Given the description of an element on the screen output the (x, y) to click on. 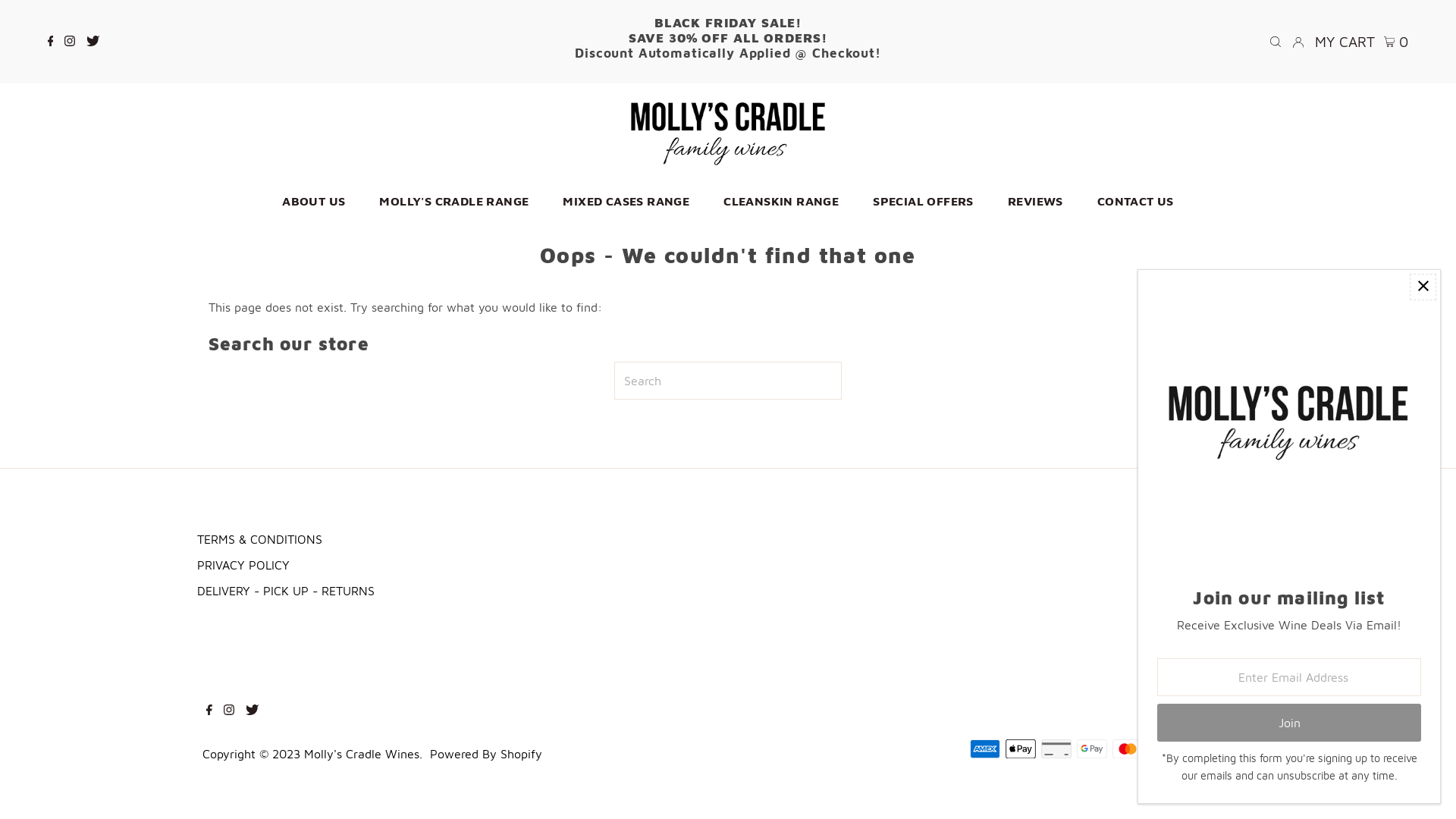
SPECIAL OFFERS Element type: text (922, 200)
PRIVACY POLICY Element type: text (243, 564)
CONTACT US Element type: text (1135, 200)
ABOUT US Element type: text (313, 200)
MIXED CASES RANGE Element type: text (625, 200)
REVIEWS Element type: text (1035, 200)
CLEANSKIN RANGE Element type: text (780, 200)
MOLLY'S CRADLE RANGE Element type: text (453, 200)
Powered By Shopify Element type: text (485, 753)
TERMS & CONDITIONS Element type: text (259, 539)
DELIVERY - PICK UP - RETURNS Element type: text (285, 590)
Molly'S Cradle Wines Element type: text (361, 753)
Join Element type: text (1289, 722)
